Given the description of an element on the screen output the (x, y) to click on. 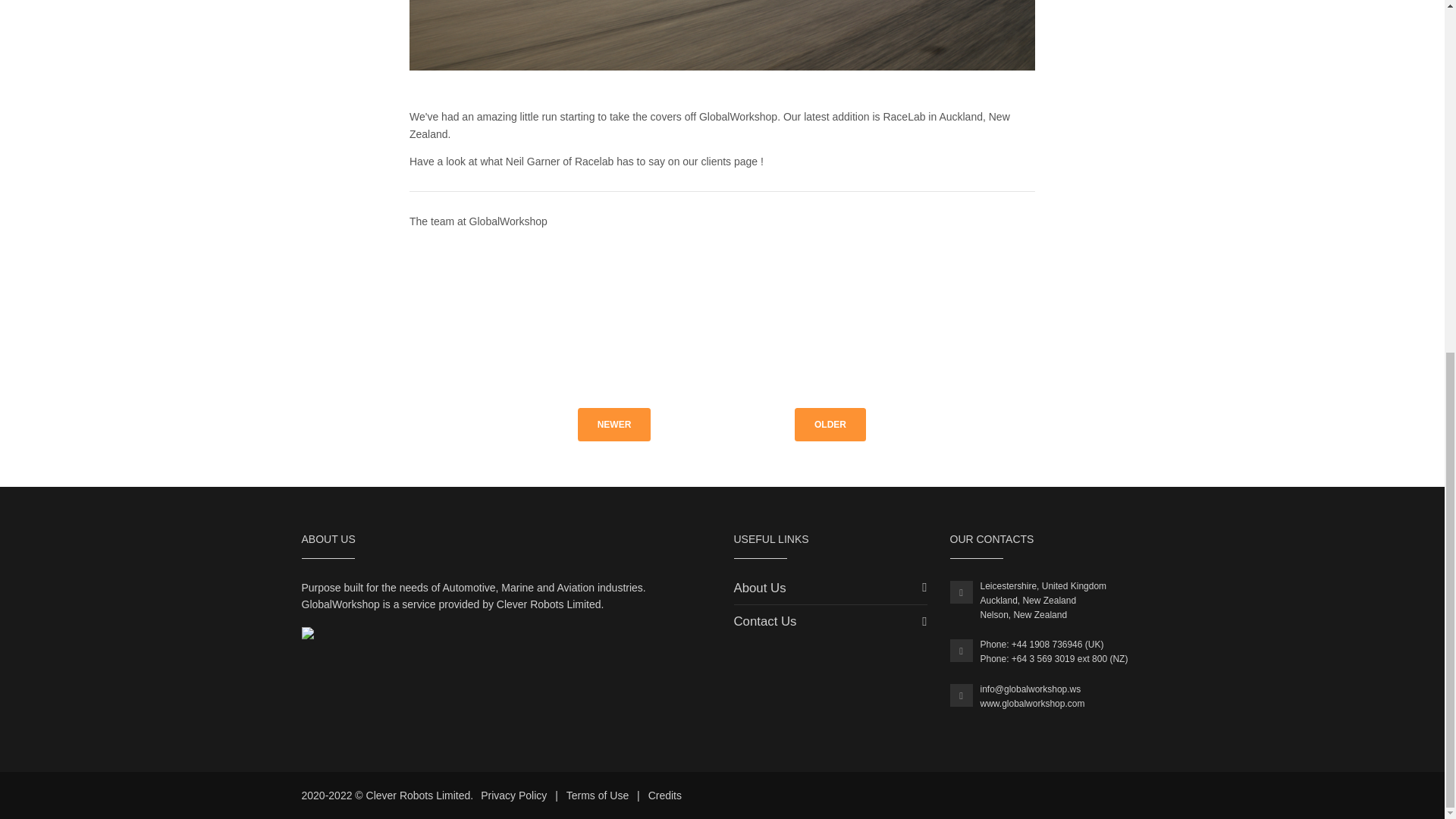
OLDER (830, 424)
NEWER (614, 424)
About Us (759, 587)
Terms of Use (597, 795)
Credits (664, 795)
Privacy Policy (513, 795)
www.globalworkshop.com (1031, 703)
Contact Us (764, 621)
